Given the description of an element on the screen output the (x, y) to click on. 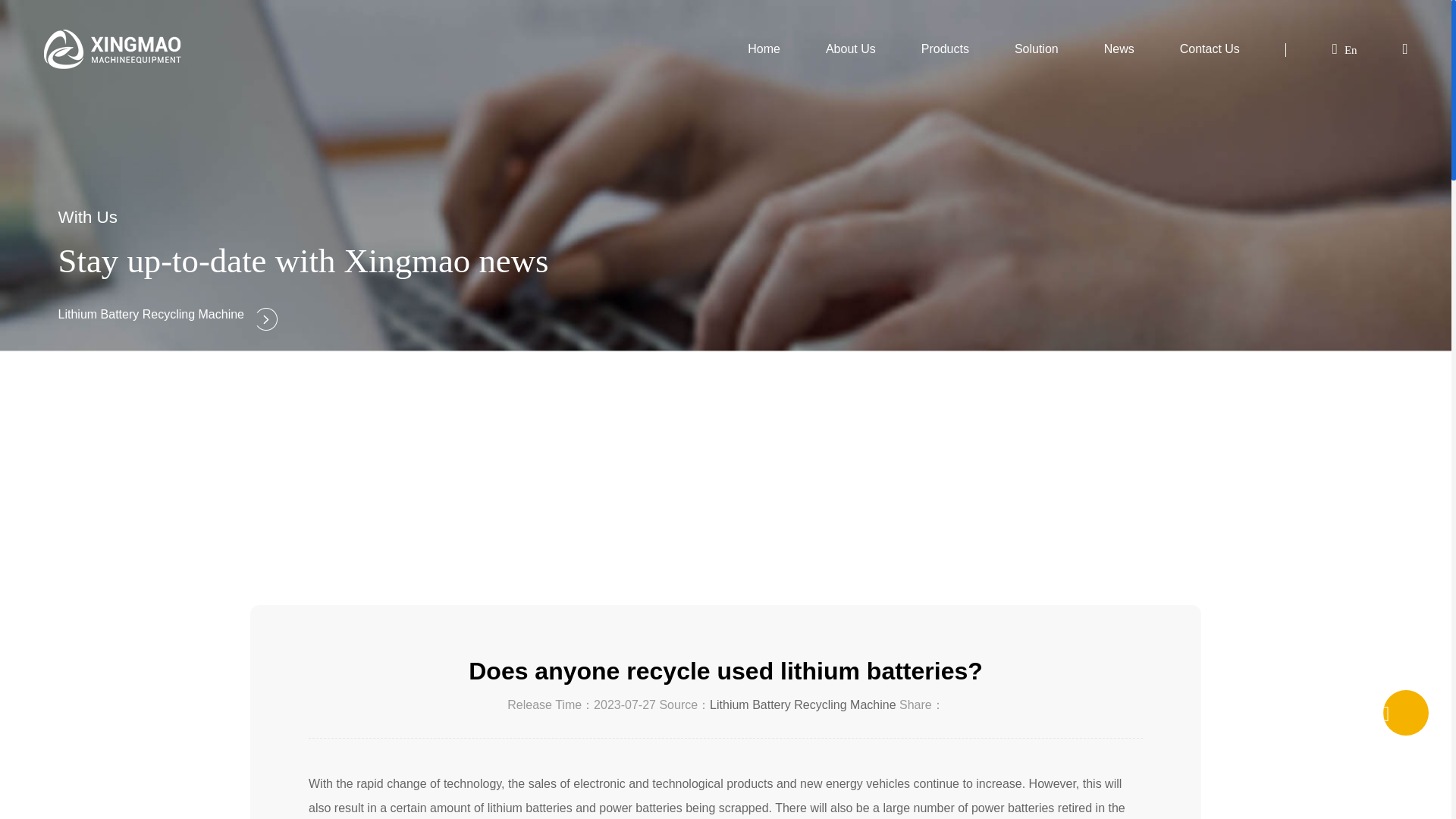
Products (945, 48)
Lithium Battery Recycling Machine (802, 704)
Solution (1036, 48)
Contact Us (1209, 48)
About Us (850, 48)
